Given the description of an element on the screen output the (x, y) to click on. 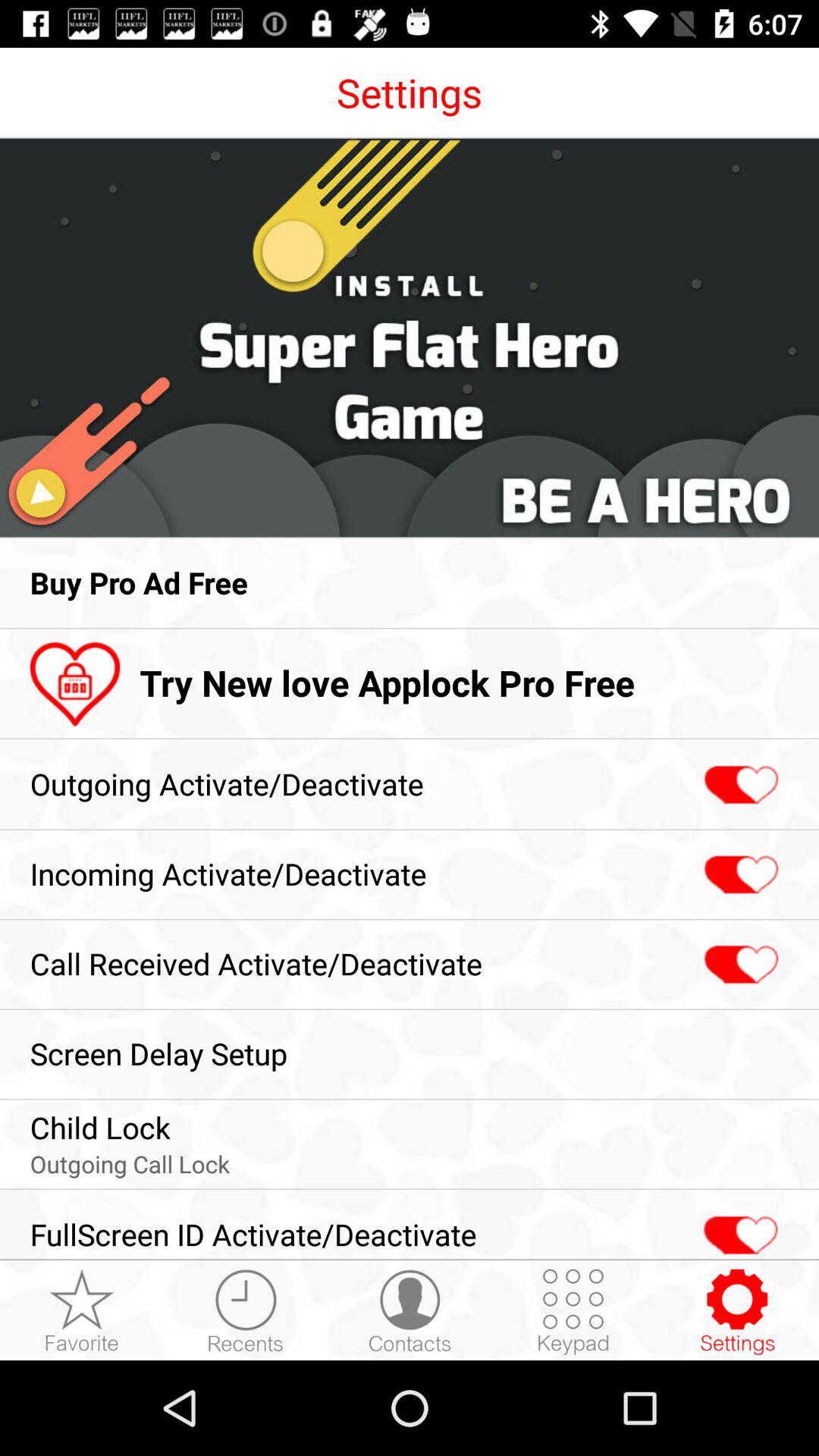
favourites (81, 1311)
